Given the description of an element on the screen output the (x, y) to click on. 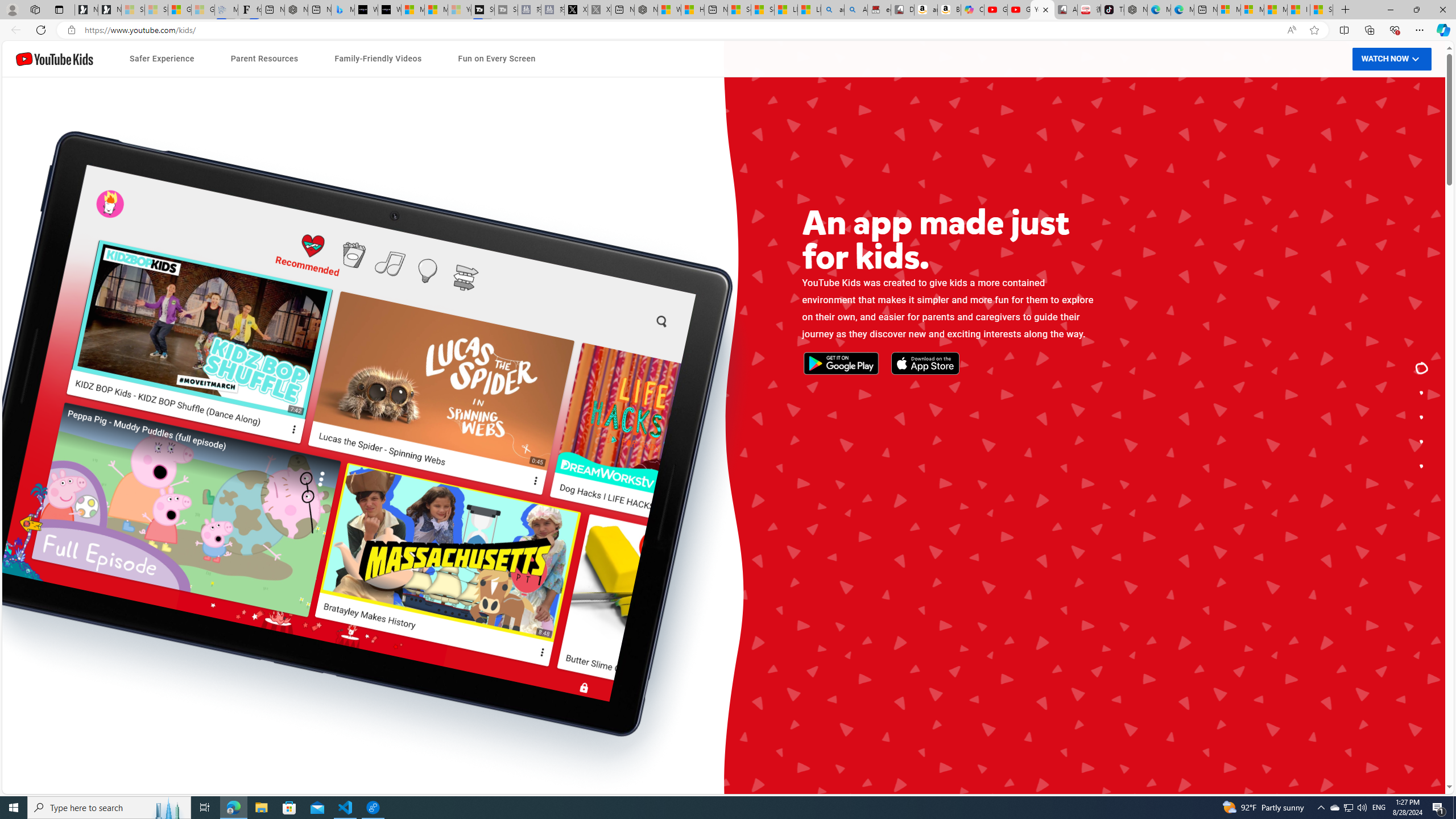
All Cubot phones (1065, 9)
What's the best AI voice generator? - voice.ai (389, 9)
04Shows & Cartoons (950, 559)
amazon.in/dp/B0CX59H5W7/?tag=gsmcom05-21 (926, 9)
YouTube Kids - An App Created for Kids to Explore Content (1042, 9)
02Toys & Play (950, 511)
02 Content Level by Age (496, 502)
A safer online experience for kids. (1421, 392)
Download on the App Store (470, 432)
